Given the description of an element on the screen output the (x, y) to click on. 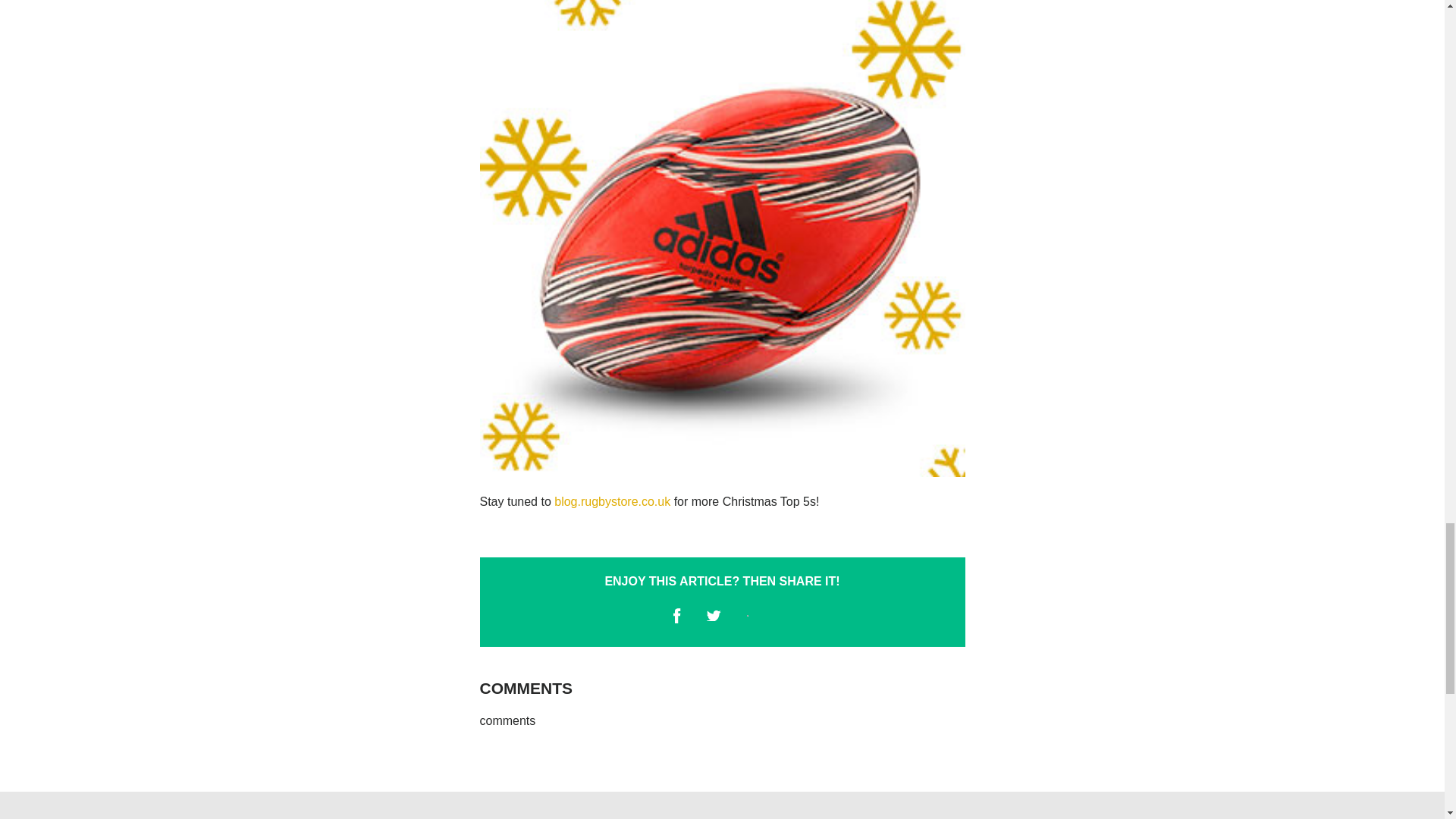
blog.rugbystore.co.uk (613, 501)
